Given the description of an element on the screen output the (x, y) to click on. 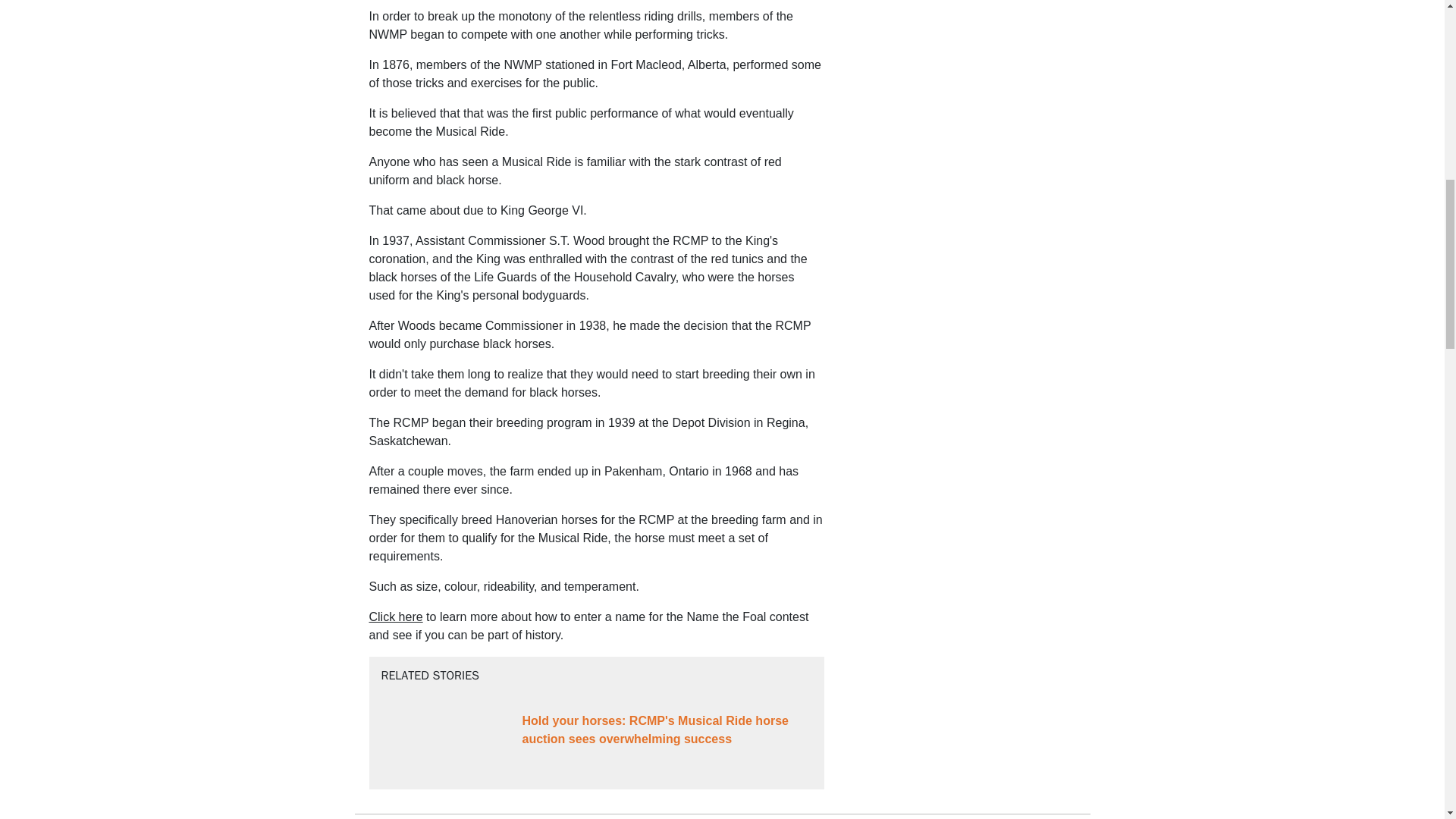
3rd party ad content (961, 276)
3rd party ad content (961, 694)
